Given the description of an element on the screen output the (x, y) to click on. 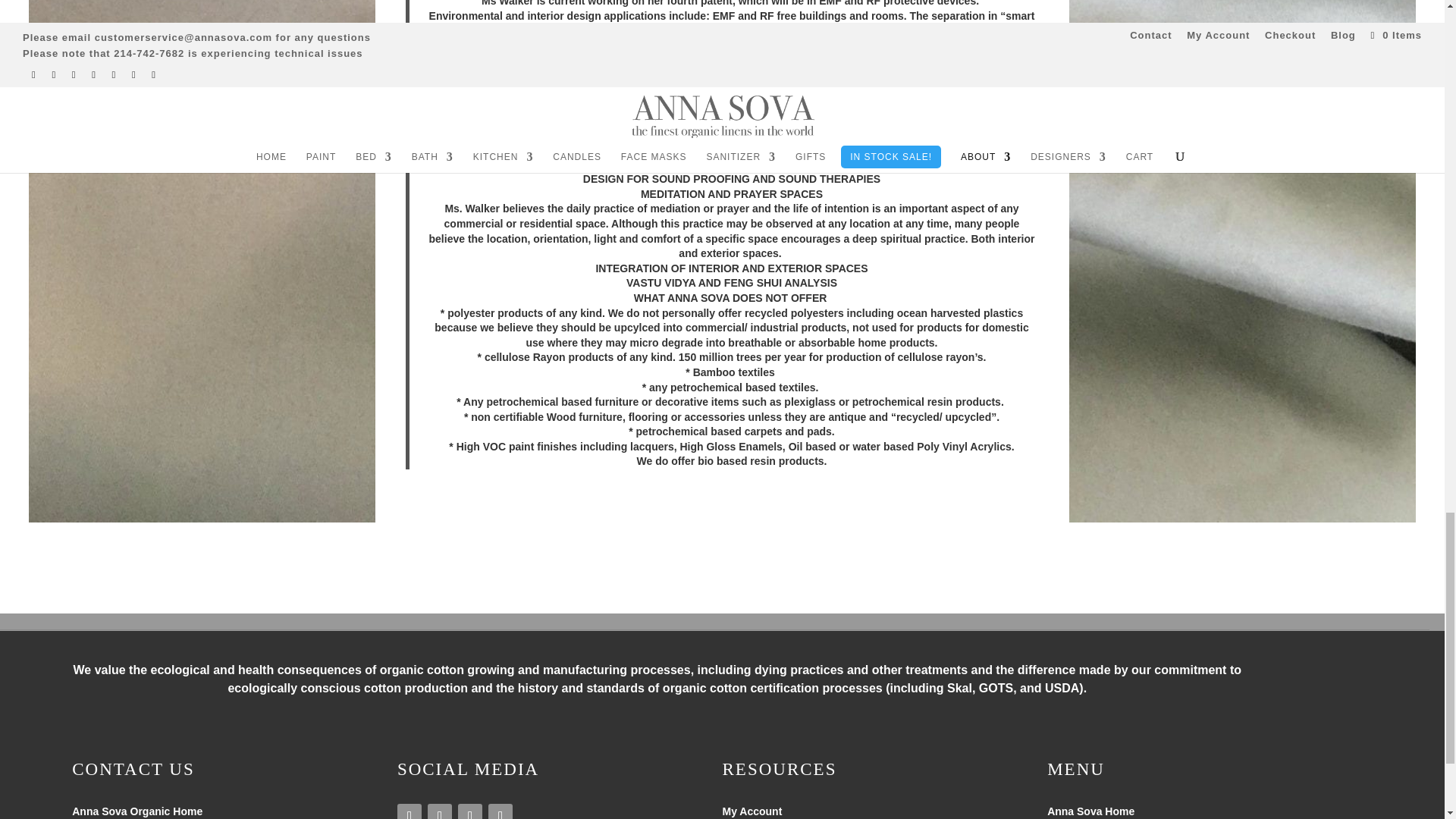
Follow on Instagram (409, 811)
Follow on Pinterest (469, 811)
Follow on Facebook (439, 811)
Follow on Youtube (499, 811)
